Given the description of an element on the screen output the (x, y) to click on. 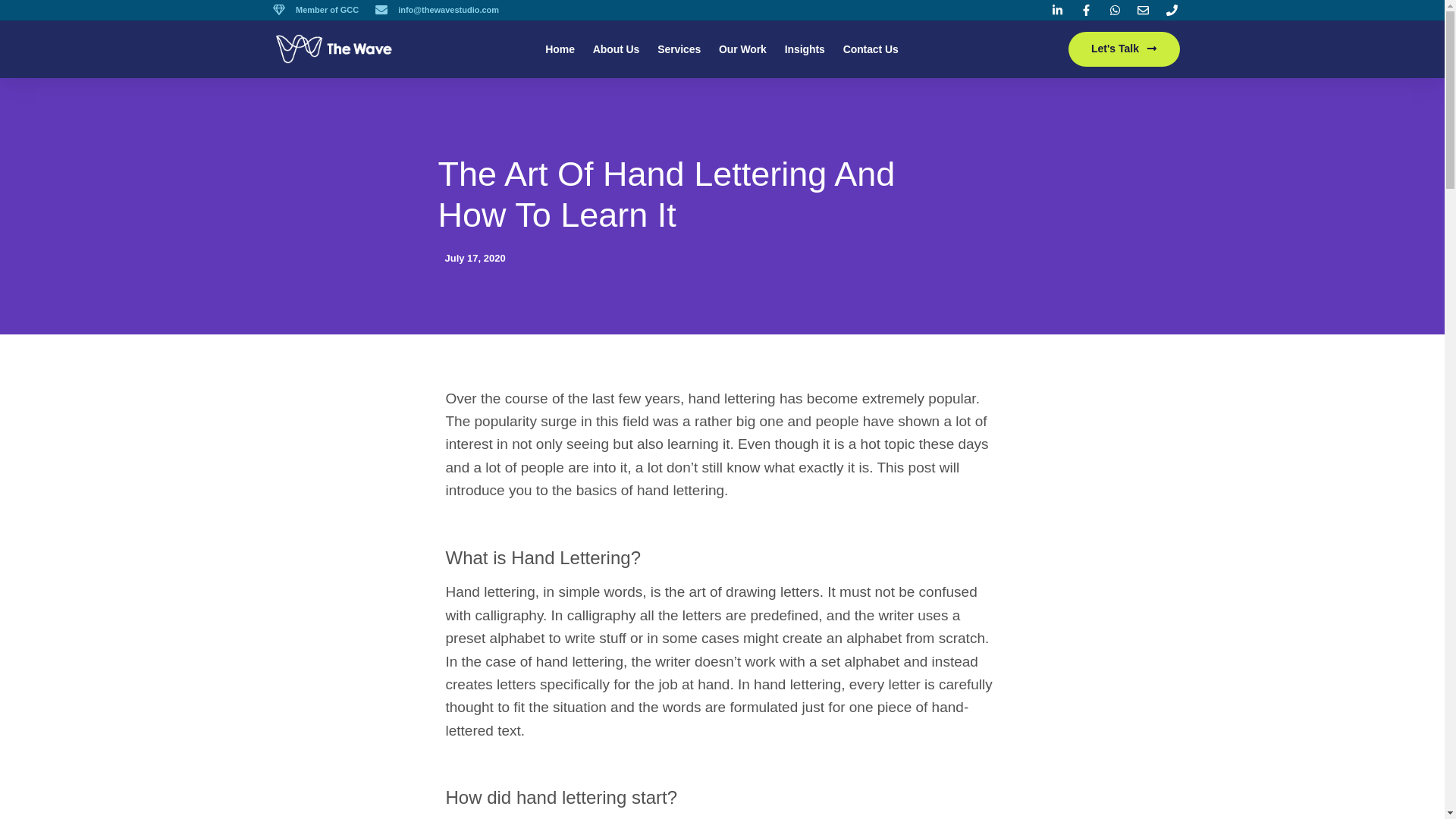
Contact Us (870, 48)
July 17, 2020 (471, 258)
Services (679, 48)
Let'S Talk (1123, 48)
Member of GCC (315, 10)
Insights (804, 48)
About Us (615, 48)
Our Work (743, 48)
